Given the description of an element on the screen output the (x, y) to click on. 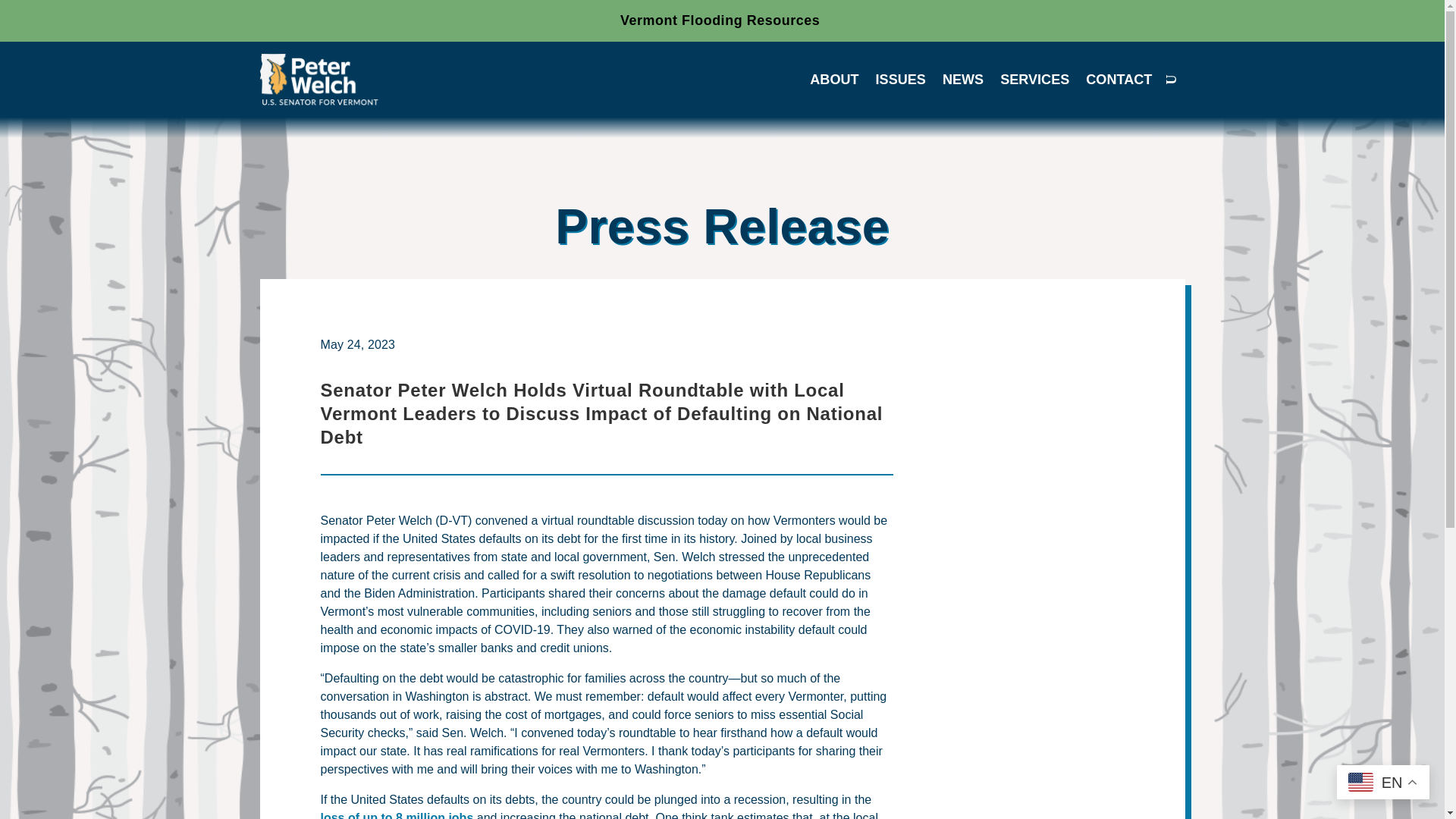
ABOUT (834, 82)
Vermont Flooding Resources (719, 20)
SERVICES (1034, 82)
ISSUES (901, 82)
NEWS (963, 82)
CONTACT (1118, 82)
